Given the description of an element on the screen output the (x, y) to click on. 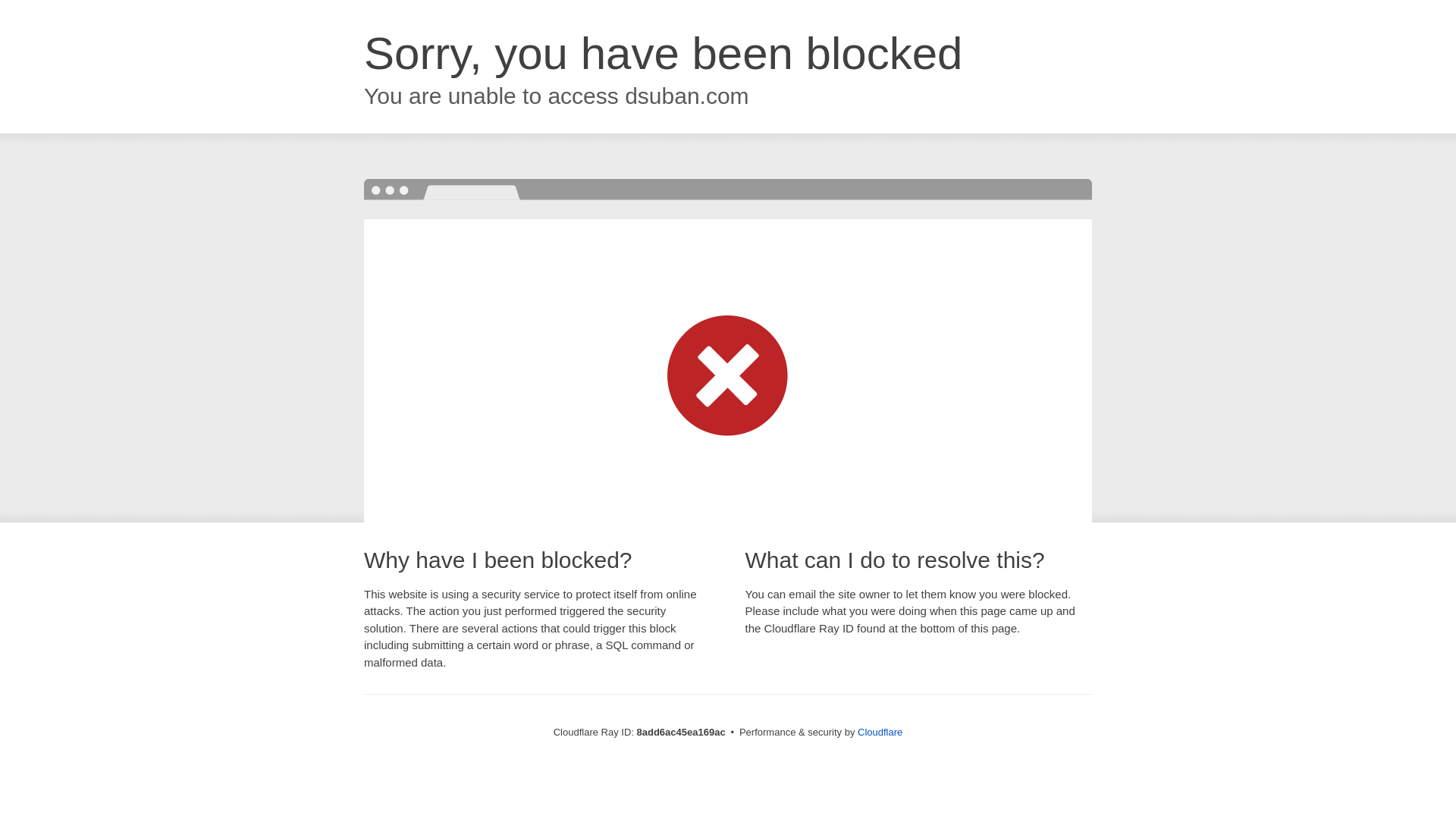
Cloudflare (879, 731)
